Given the description of an element on the screen output the (x, y) to click on. 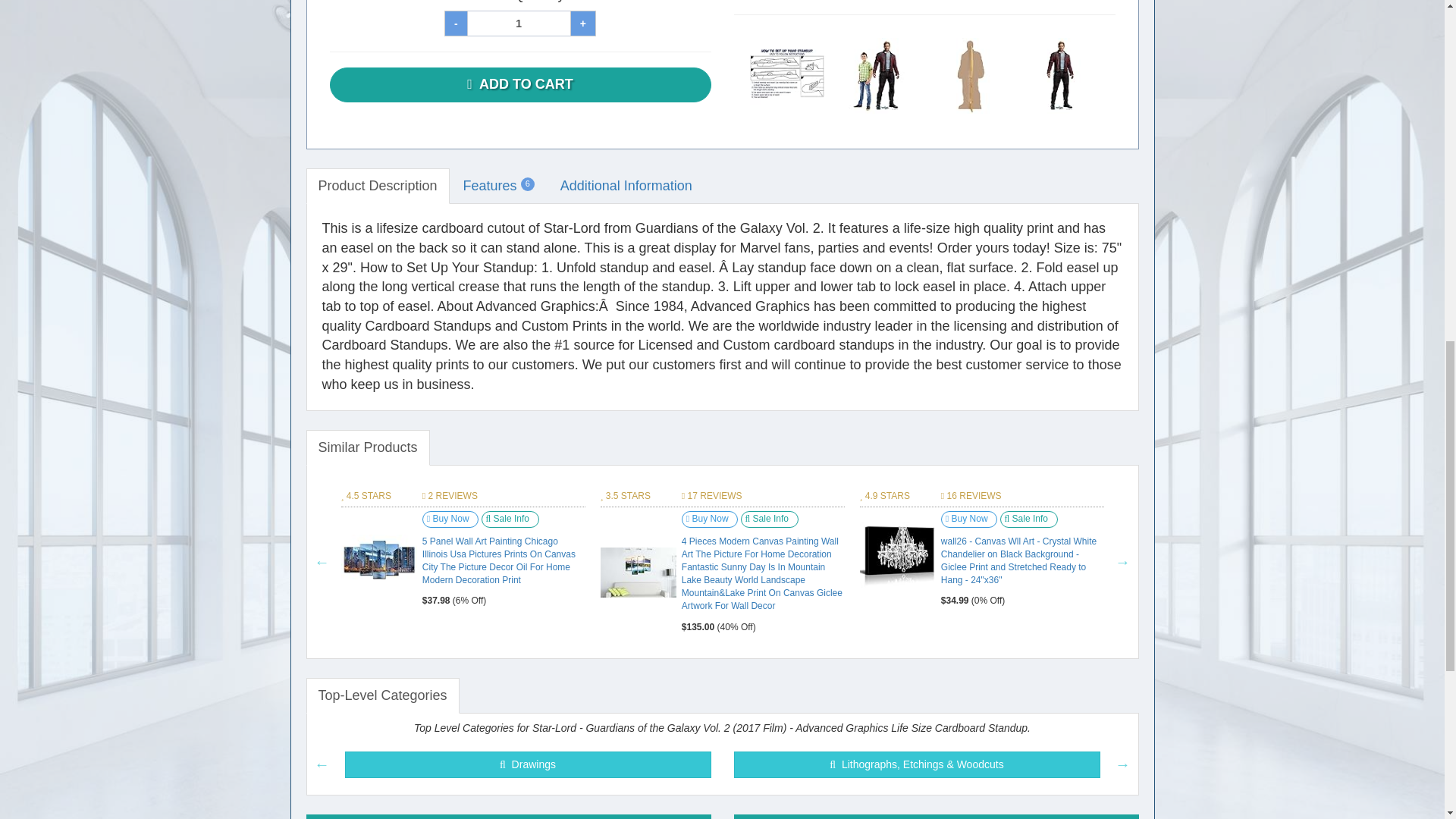
Features 6 (499, 186)
  ADD TO CART (519, 84)
Product Description (377, 186)
Additional Information (626, 186)
1 (518, 23)
Similar Products (367, 447)
Sale Info   (509, 519)
Previous (321, 561)
- (455, 23)
Buy Now   (450, 519)
